Given the description of an element on the screen output the (x, y) to click on. 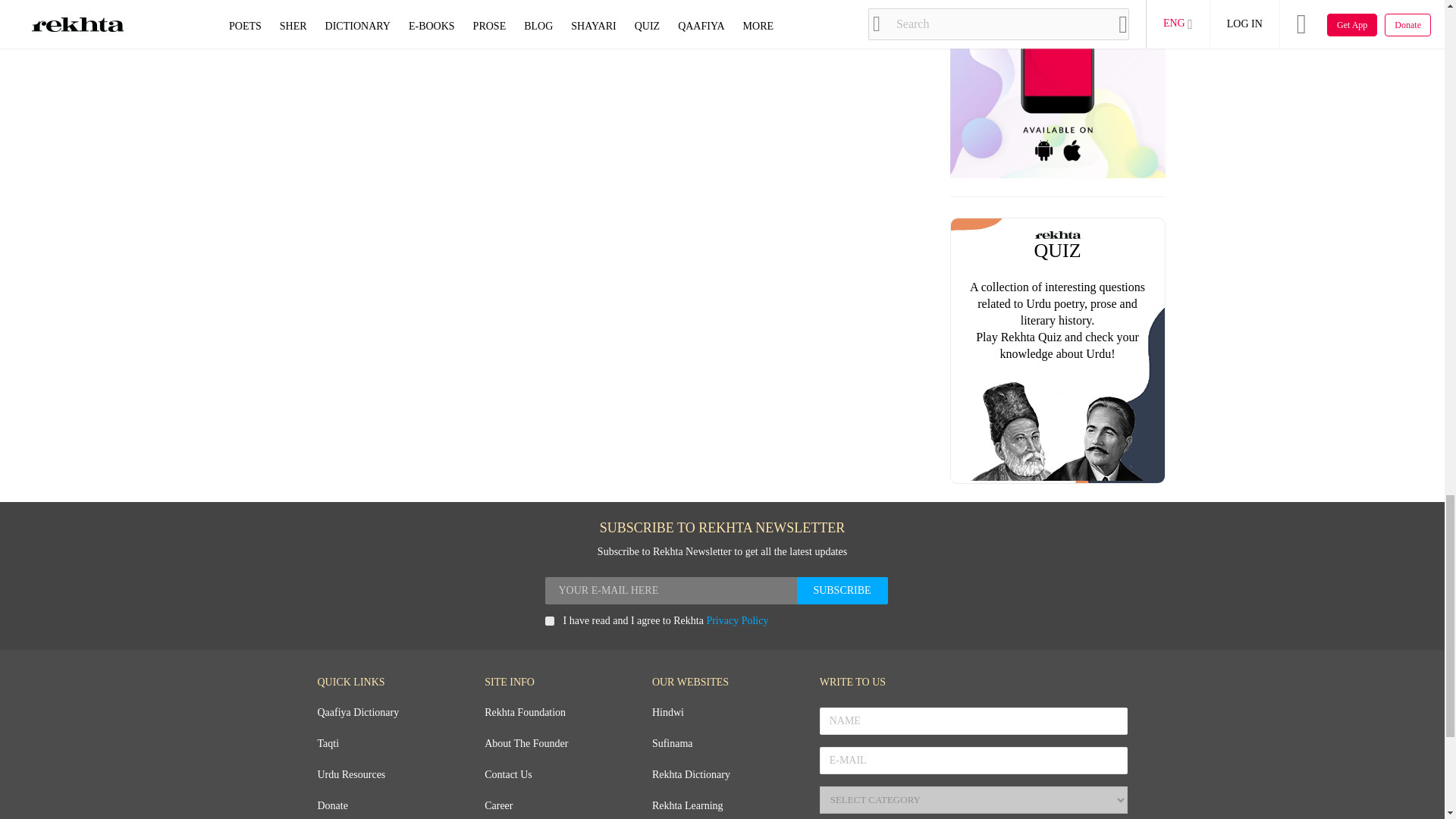
SUBSCRIBE (841, 590)
